Given the description of an element on the screen output the (x, y) to click on. 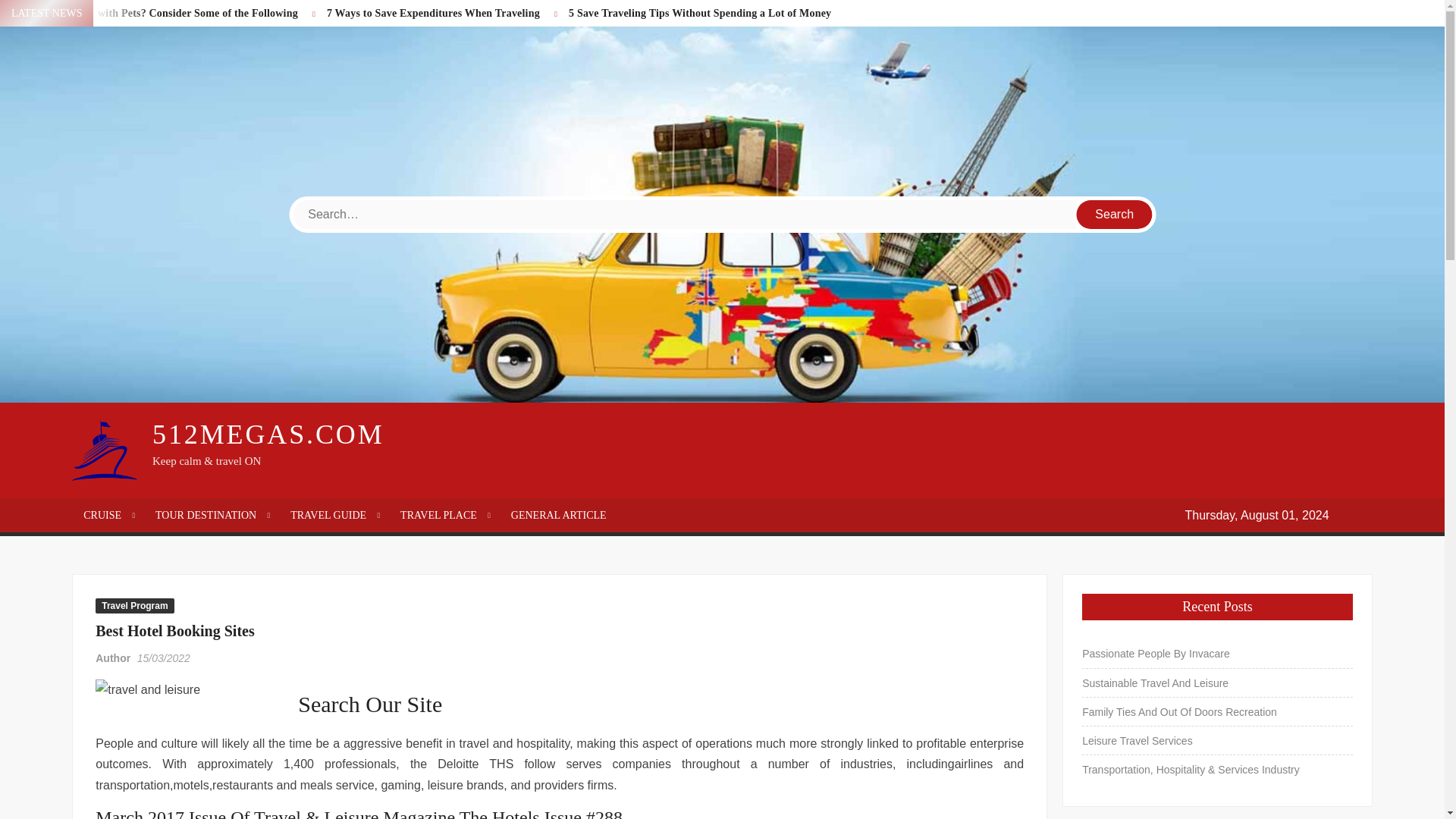
CRUISE (107, 514)
7 Ways to Save Expenditures When Traveling (433, 12)
5 Save Traveling Tips Without Spending a Lot of Money (700, 12)
512MEGAS.COM (268, 434)
5 Save Traveling Tips Without Spending a Lot of Money (700, 12)
7 Ways to Save Expenditures When Traveling (433, 12)
Search (1115, 214)
Want to Vacation with Pets? Consider Some of the Following (156, 12)
Want to Vacation with Pets? Consider Some of the Following (156, 12)
Search (1115, 214)
Search (1115, 214)
